Given the description of an element on the screen output the (x, y) to click on. 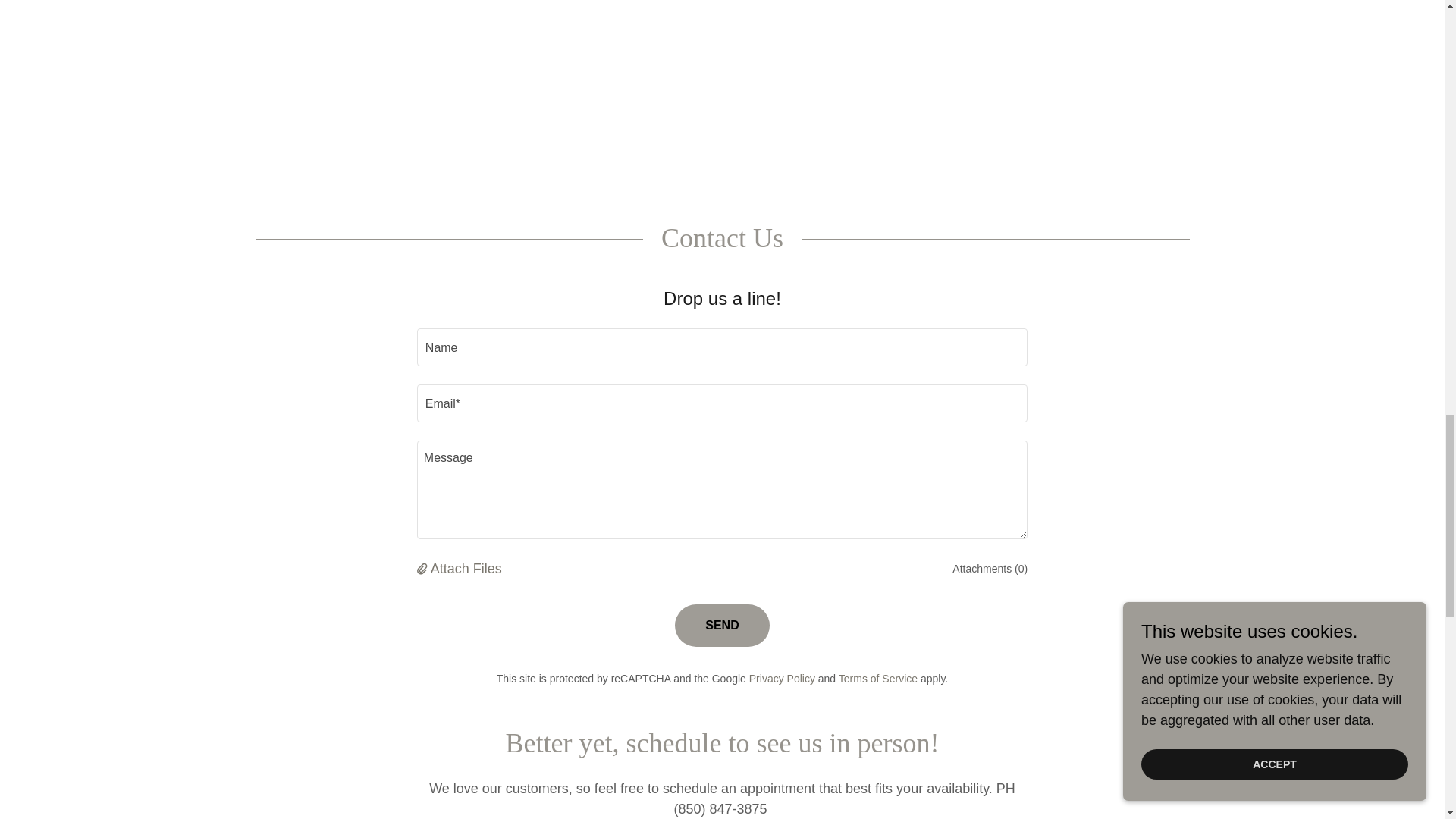
SEND (721, 625)
Privacy Policy (782, 678)
